Given the description of an element on the screen output the (x, y) to click on. 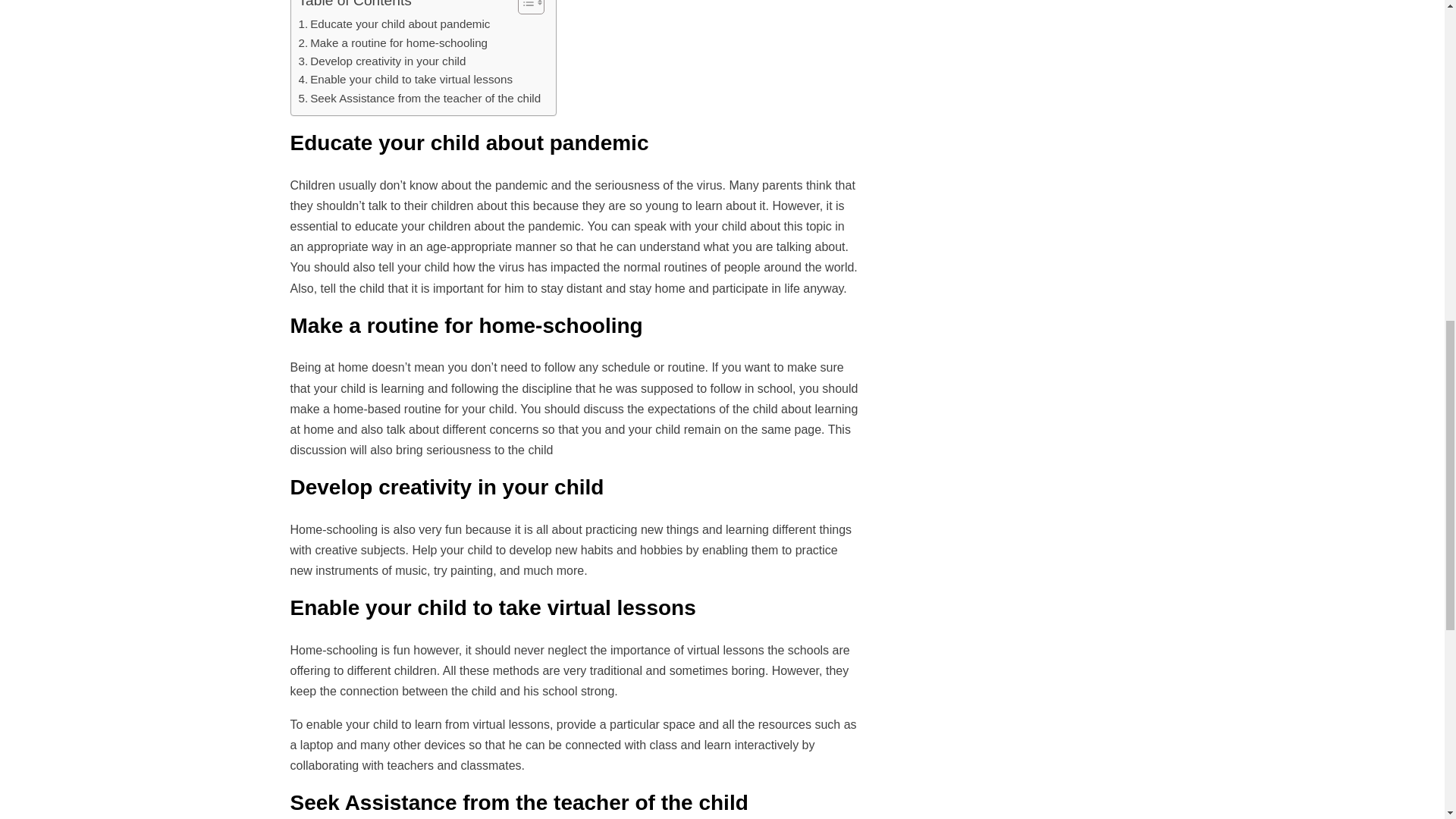
Seek Assistance from the teacher of the child (419, 98)
Develop creativity in your child (381, 61)
Educate your child about pandemic (394, 24)
Make a routine for home-schooling (392, 43)
Seek Assistance from the teacher of the child (419, 98)
Enable your child to take virtual lessons (405, 79)
Make a routine for home-schooling (392, 43)
Enable your child to take virtual lessons (405, 79)
Develop creativity in your child (381, 61)
Educate your child about pandemic (394, 24)
